Given the description of an element on the screen output the (x, y) to click on. 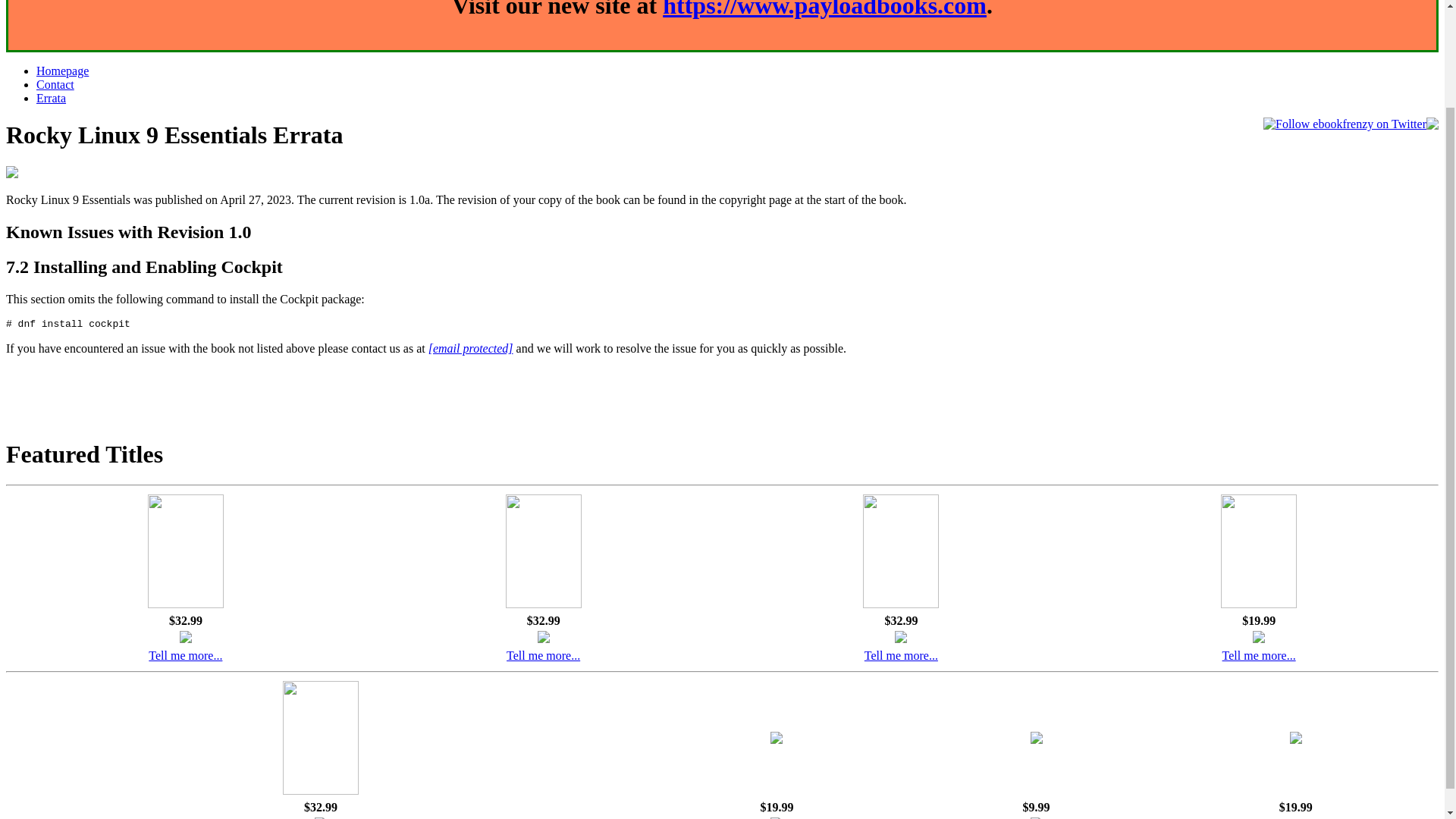
Tell me more... (900, 655)
Homepage (62, 70)
Tell me more... (542, 655)
Errata (50, 97)
Tell me more... (1259, 655)
Contact (55, 83)
Tell me more... (185, 655)
